Given the description of an element on the screen output the (x, y) to click on. 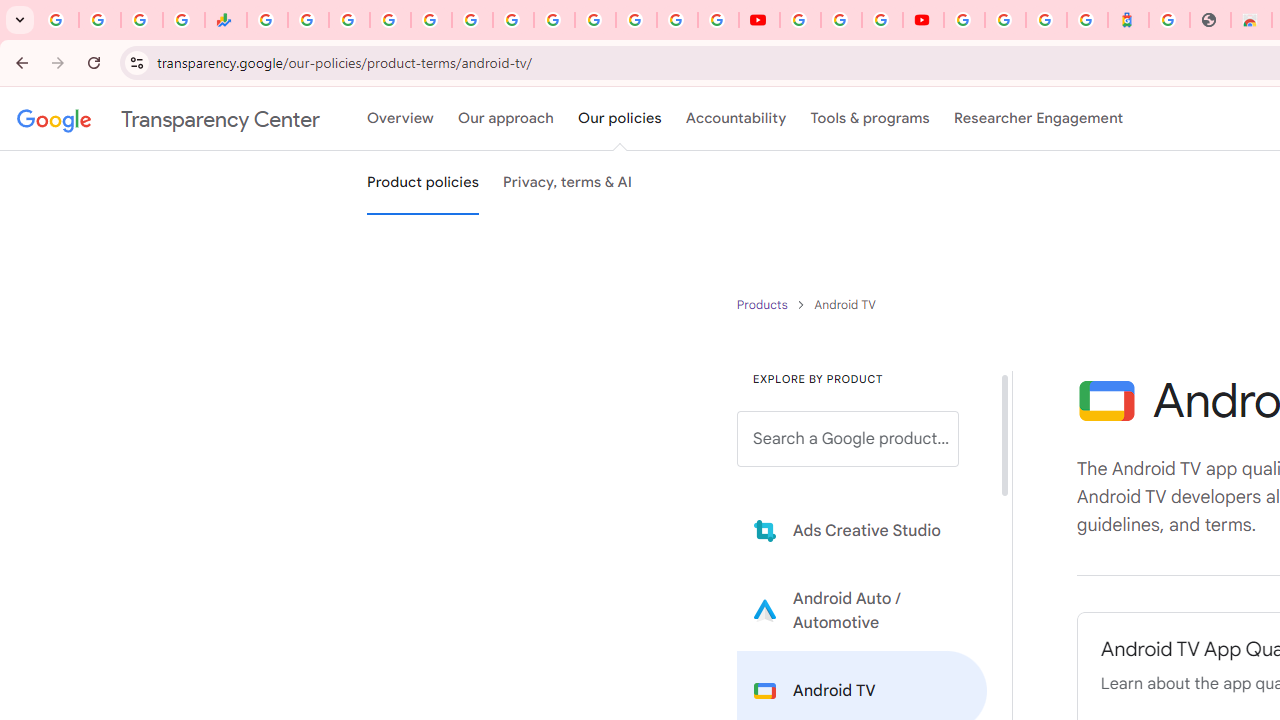
Transparency Center (167, 119)
